Given the description of an element on the screen output the (x, y) to click on. 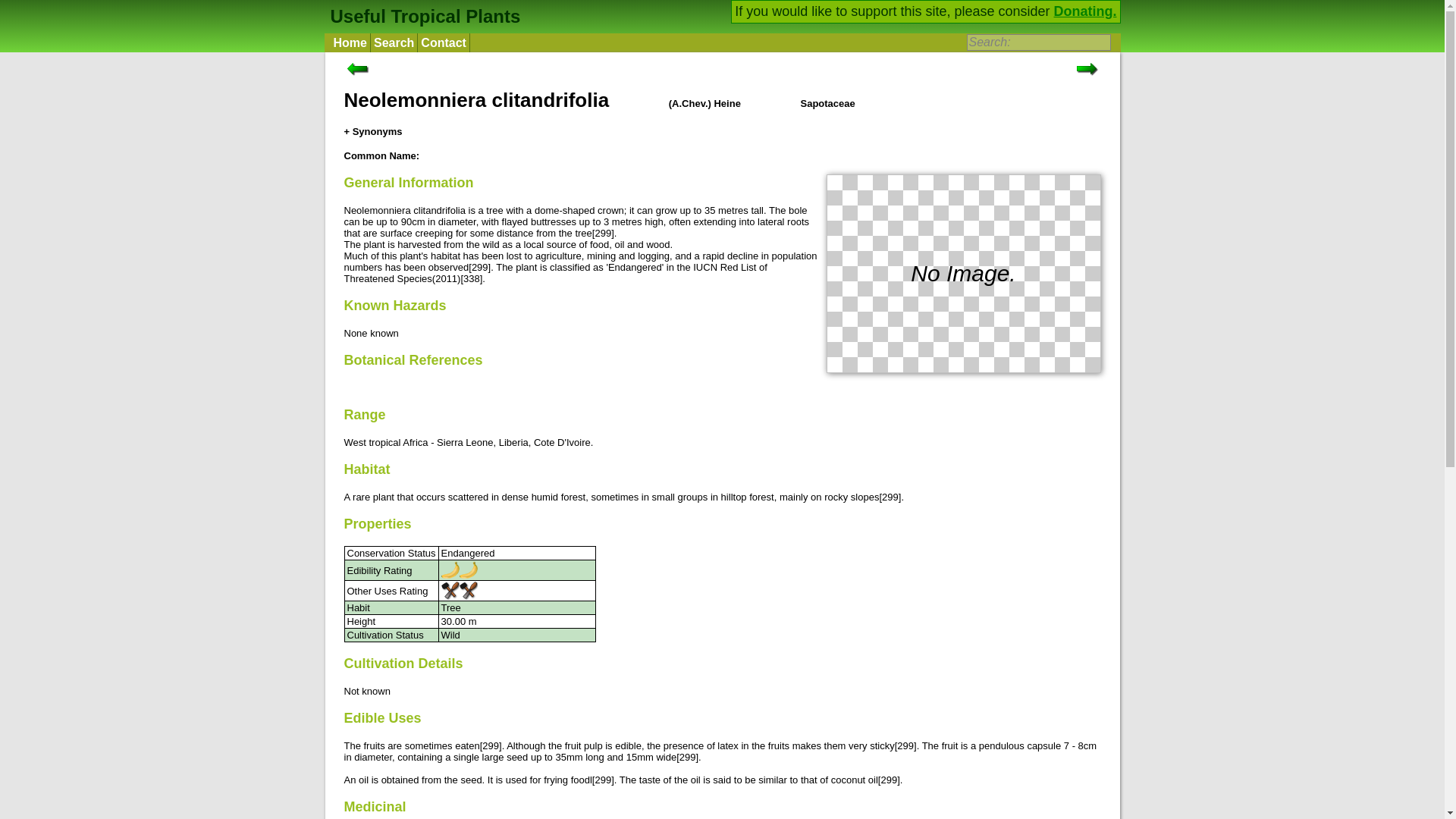
Search: (1037, 42)
Useful Tropical Plants (422, 15)
299 (490, 745)
Search (394, 42)
299 (888, 779)
299 (602, 779)
Contact (443, 42)
299 (479, 266)
Search: (1037, 42)
338 (471, 278)
Home (350, 42)
299 (890, 496)
299 (687, 756)
